Given the description of an element on the screen output the (x, y) to click on. 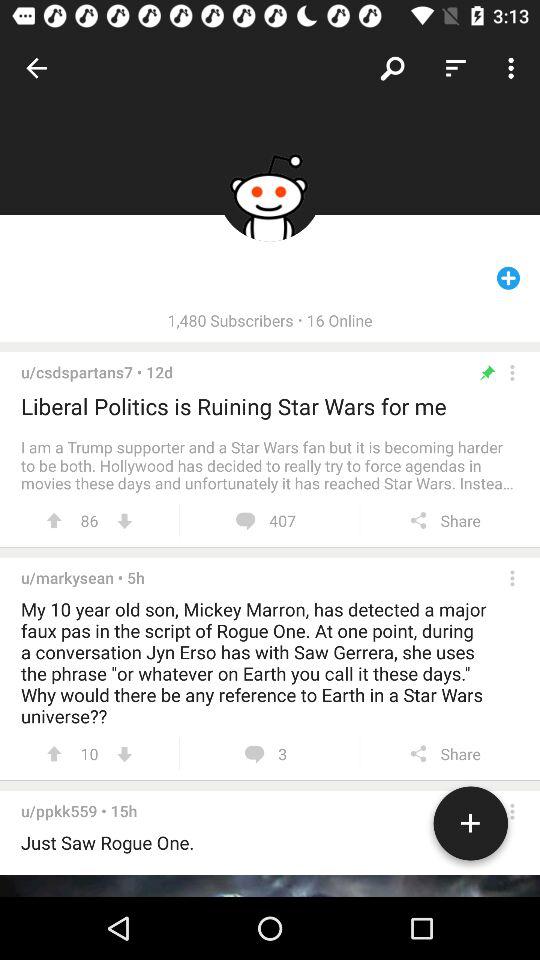
join/subscribe (470, 827)
